Given the description of an element on the screen output the (x, y) to click on. 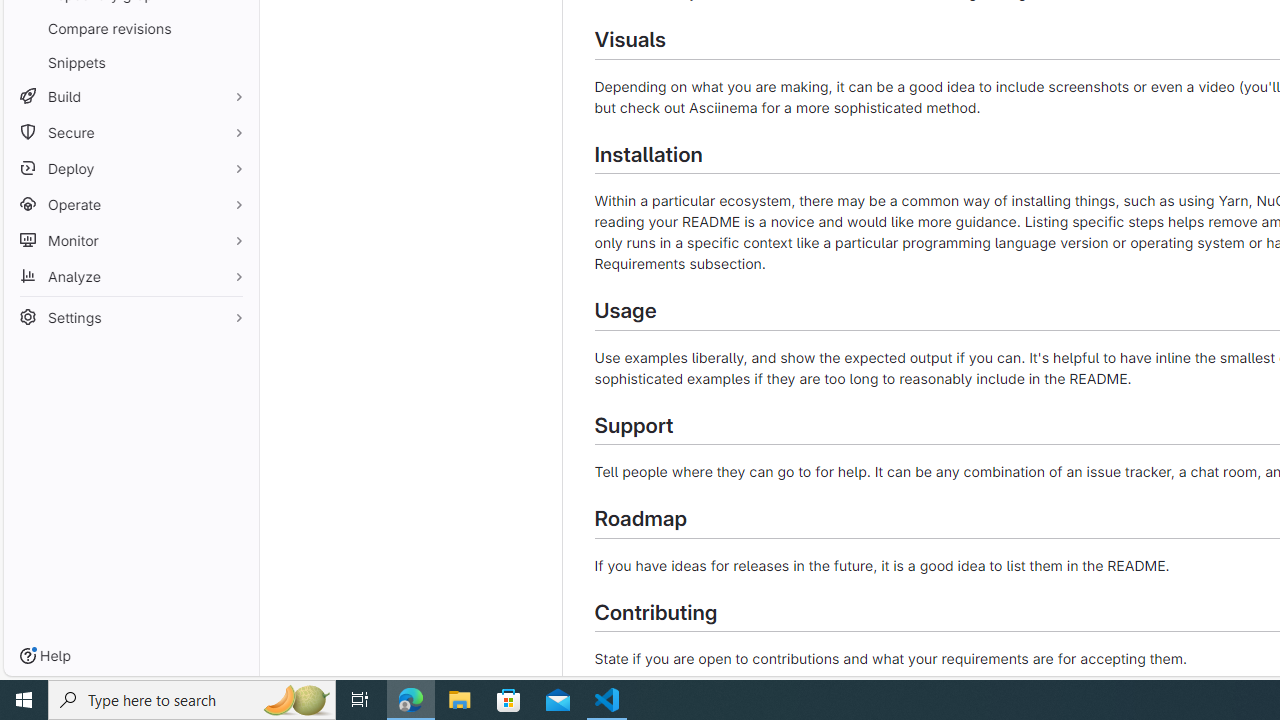
Operate (130, 204)
Compare revisions (130, 28)
Snippets (130, 62)
Deploy (130, 168)
Secure (130, 132)
Analyze (130, 276)
Pin Compare revisions (234, 28)
Build (130, 96)
Build (130, 96)
Analyze (130, 276)
Pin Snippets (234, 61)
Monitor (130, 240)
Compare revisions (130, 28)
